Given the description of an element on the screen output the (x, y) to click on. 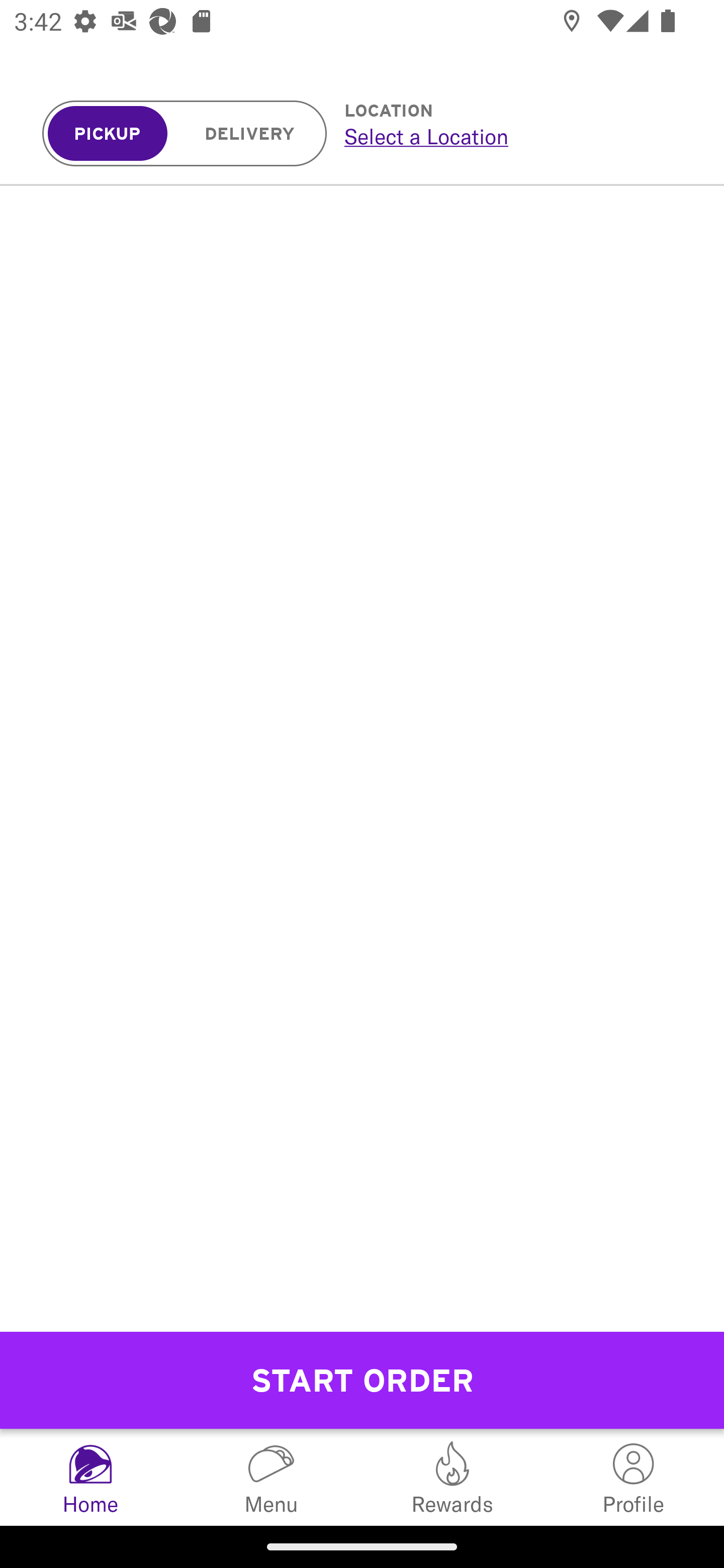
PICKUP (107, 133)
DELIVERY (249, 133)
Select a Location (511, 136)
START ORDER (362, 1379)
Home (90, 1476)
Menu (271, 1476)
Rewards (452, 1476)
My Info Profile (633, 1476)
